Given the description of an element on the screen output the (x, y) to click on. 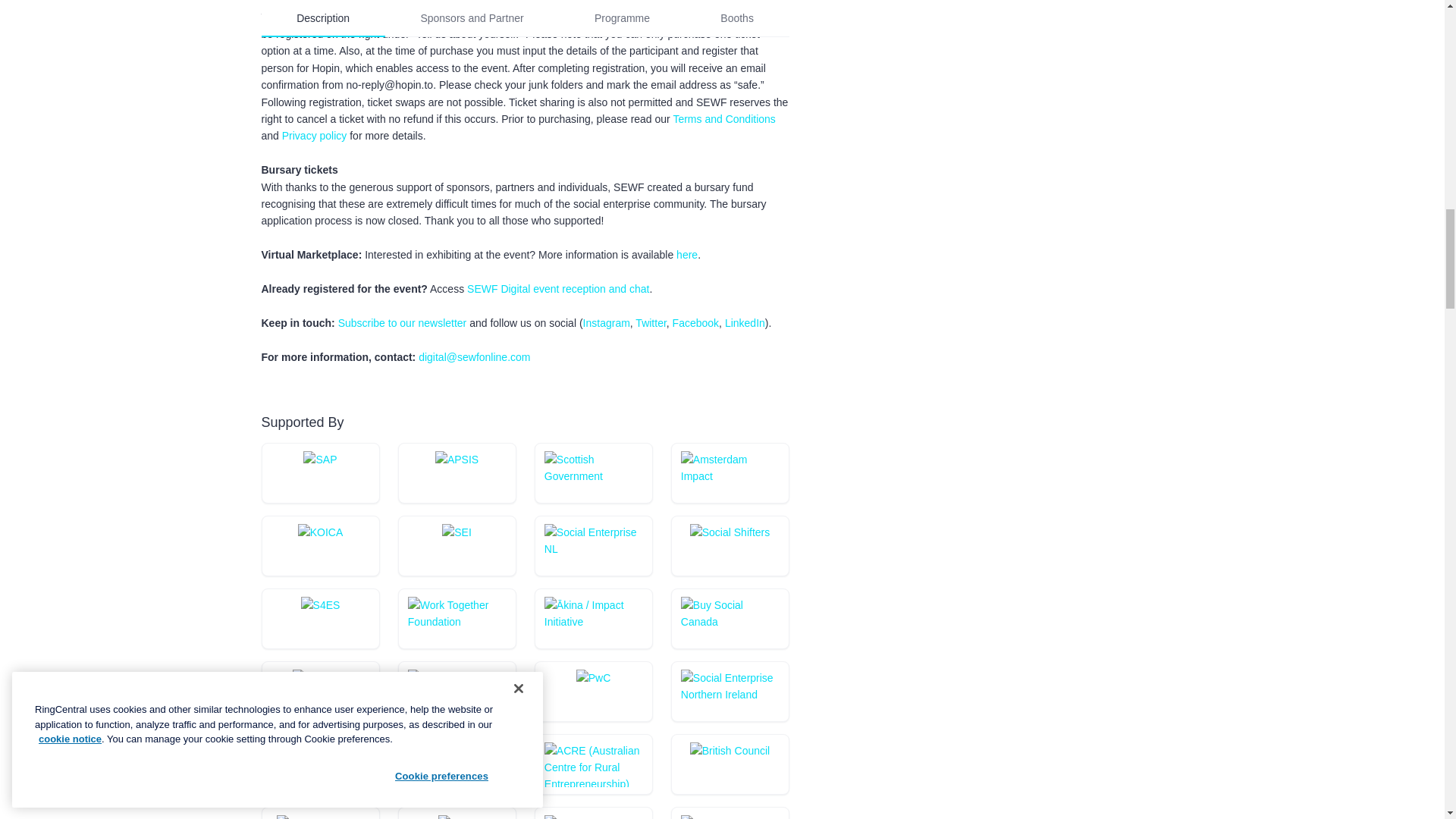
Amsterdam Impact (729, 473)
APSIS (457, 473)
Terms and Conditions (723, 119)
Instagram (606, 322)
LinkedIn (745, 322)
Facebook (695, 322)
KOICA (320, 546)
Social Shifters (730, 546)
Social Enterprise NL (593, 546)
British Council (730, 764)
